Given the description of an element on the screen output the (x, y) to click on. 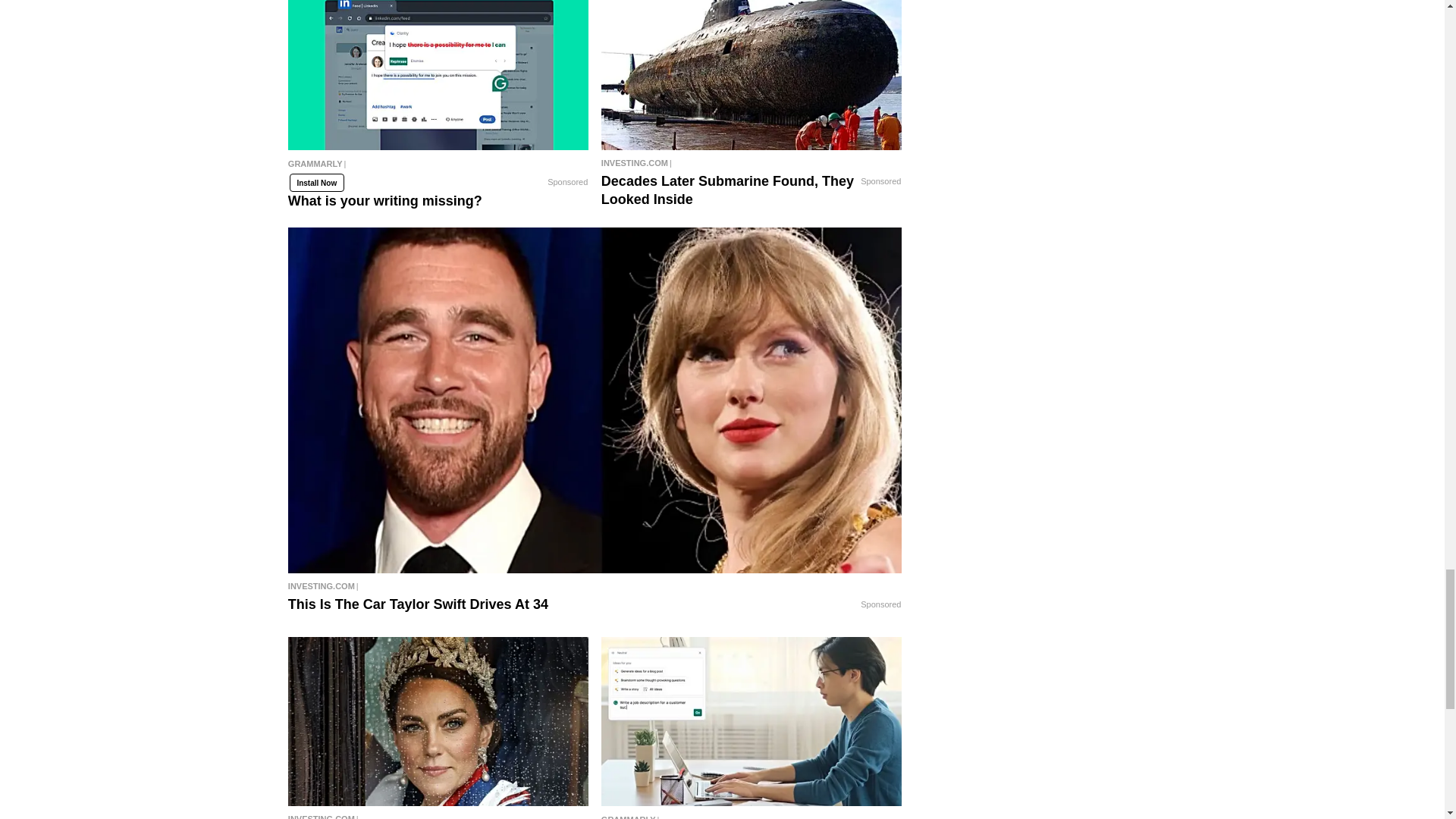
Kate Middleton's Outfit Took Prince Harry's Breath Away (438, 814)
Kate Middleton's Outfit Took Prince Harry's Breath Away (438, 721)
This Is The Car Taylor Swift Drives At 34 (595, 586)
Decades Later Submarine Found, They Looked Inside (751, 74)
What is your writing missing? (438, 169)
Decades Later Submarine Found, They Looked Inside (751, 162)
What is your writing missing? (438, 74)
